Given the description of an element on the screen output the (x, y) to click on. 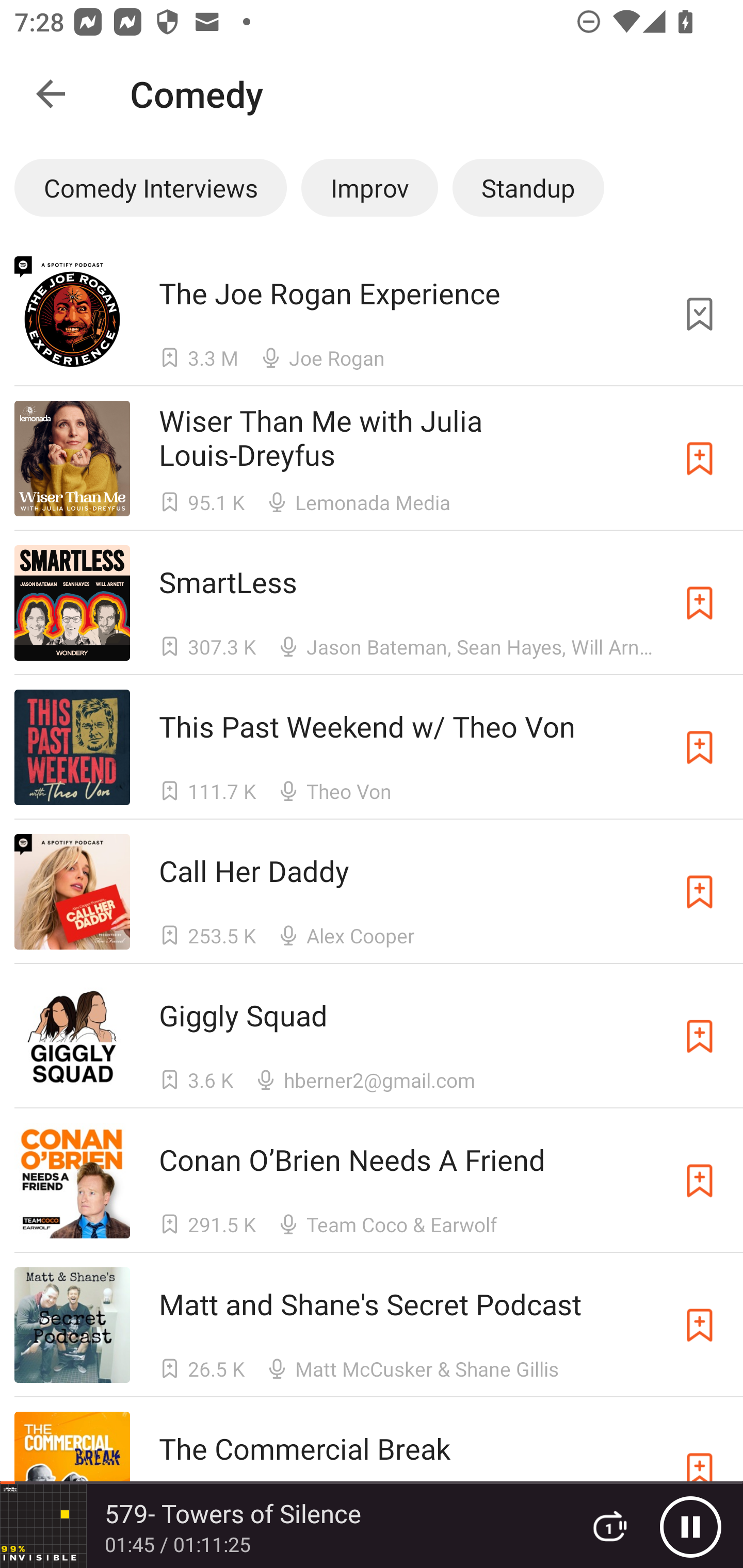
Navigate up (50, 93)
Comedy Interviews (150, 187)
Improv (369, 187)
Standup (528, 187)
Unsubscribe (699, 313)
Subscribe (699, 458)
Subscribe (699, 602)
Subscribe (699, 746)
Subscribe (699, 892)
Subscribe (699, 1036)
Subscribe (699, 1180)
Subscribe (699, 1324)
579- Towers of Silence 01:45 / 01:11:25 (283, 1525)
Pause (690, 1526)
